Given the description of an element on the screen output the (x, y) to click on. 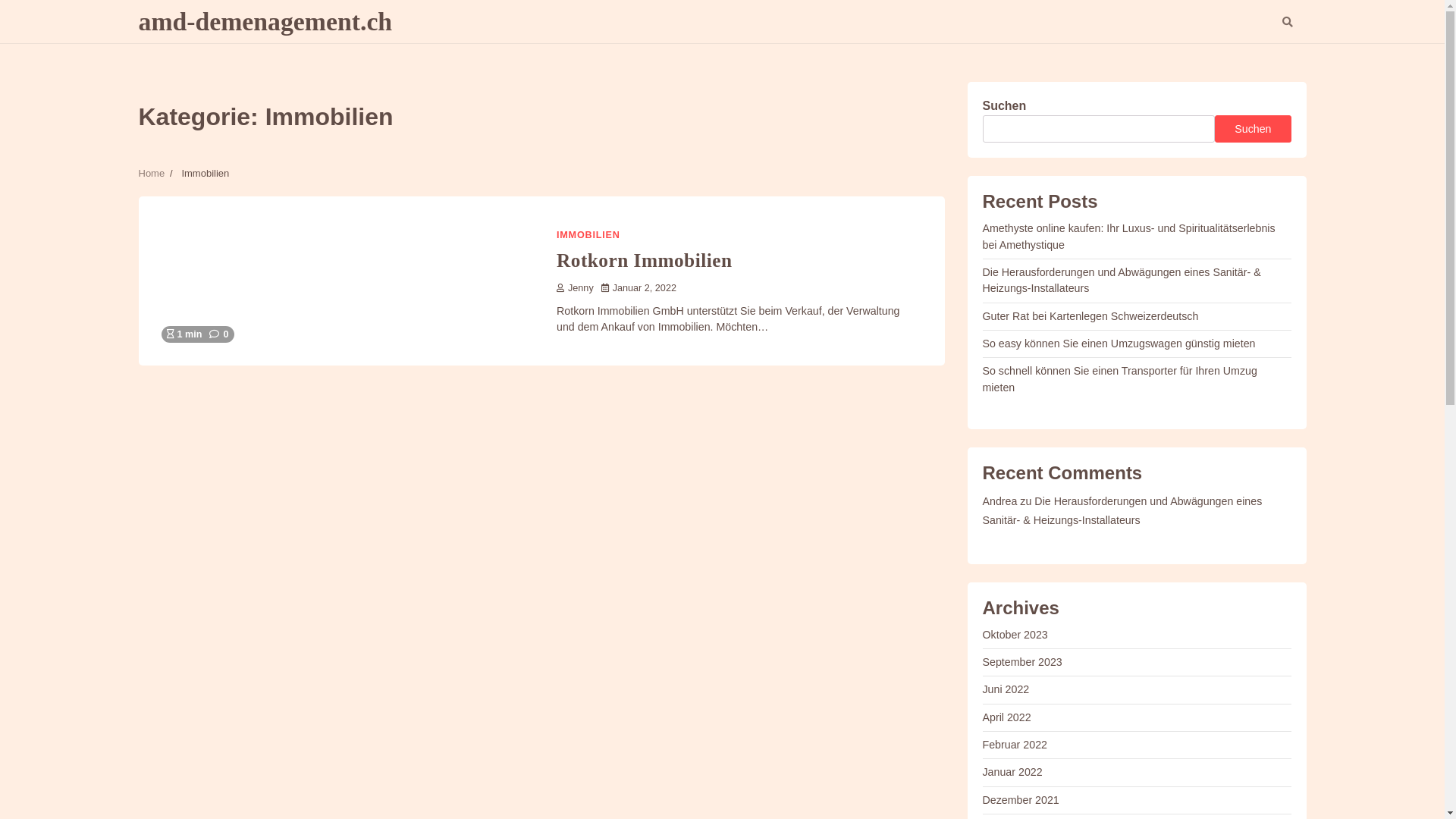
IMMOBILIEN Element type: text (588, 234)
Januar 2022 Element type: text (1012, 771)
Juni 2022 Element type: text (1005, 689)
April 2022 Element type: text (1006, 717)
Oktober 2023 Element type: text (1015, 634)
Jenny Element type: text (574, 287)
Suchen Element type: text (1252, 128)
Dezember 2021 Element type: text (1020, 799)
Suche Element type: text (1259, 60)
Februar 2022 Element type: text (1014, 744)
amd-demenagement.ch Element type: text (265, 21)
Rotkorn Immobilien Element type: text (644, 259)
September 2023 Element type: text (1022, 661)
Guter Rat bei Kartenlegen Schweizerdeutsch Element type: text (1090, 316)
Andrea Element type: text (999, 501)
Home Element type: text (151, 172)
Search Element type: hover (1286, 21)
